Given the description of an element on the screen output the (x, y) to click on. 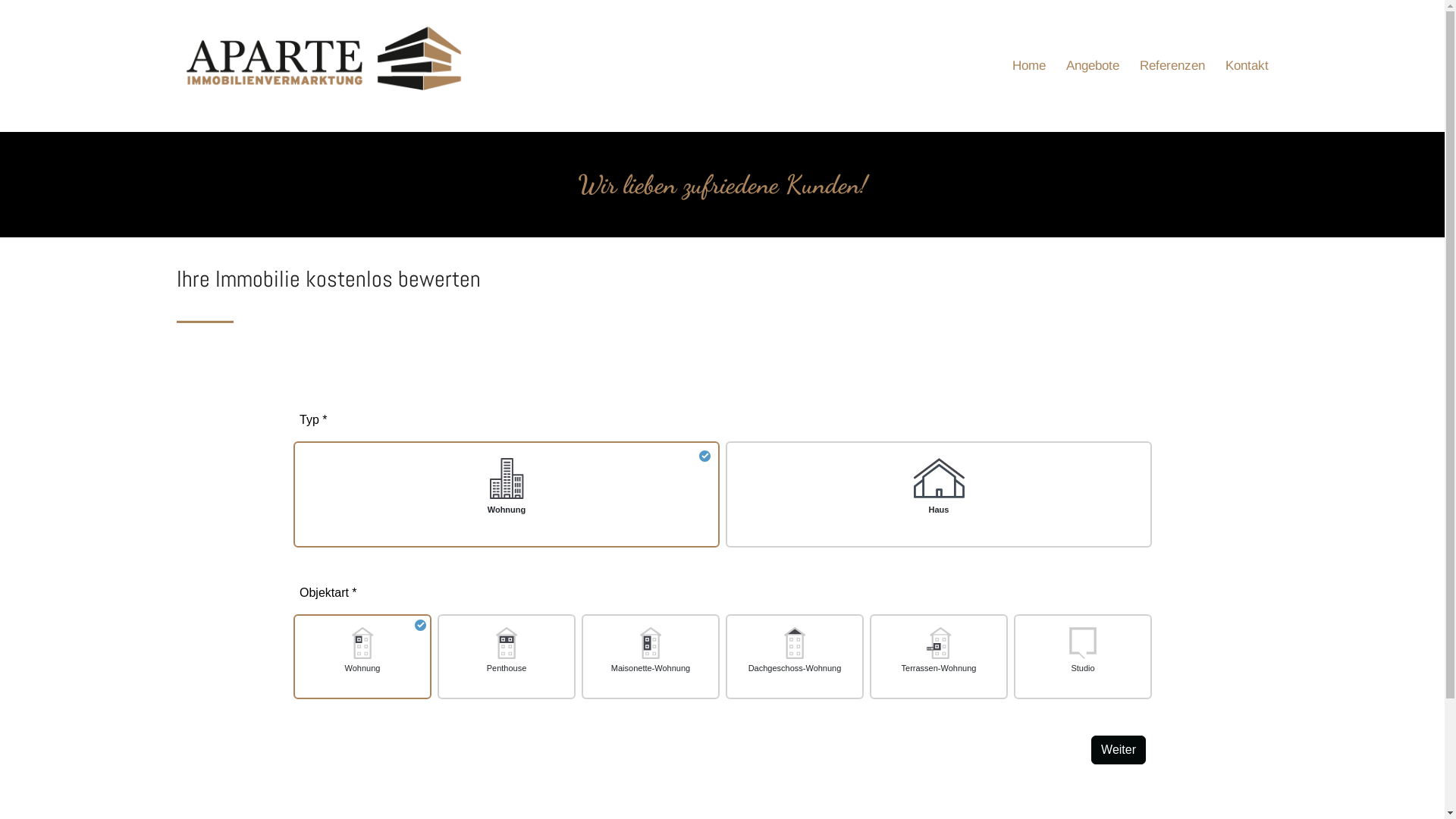
Referenzen Element type: text (1171, 95)
Home Element type: text (1027, 95)
Kontakt Element type: text (1246, 95)
Angebote Element type: text (1092, 95)
